Given the description of an element on the screen output the (x, y) to click on. 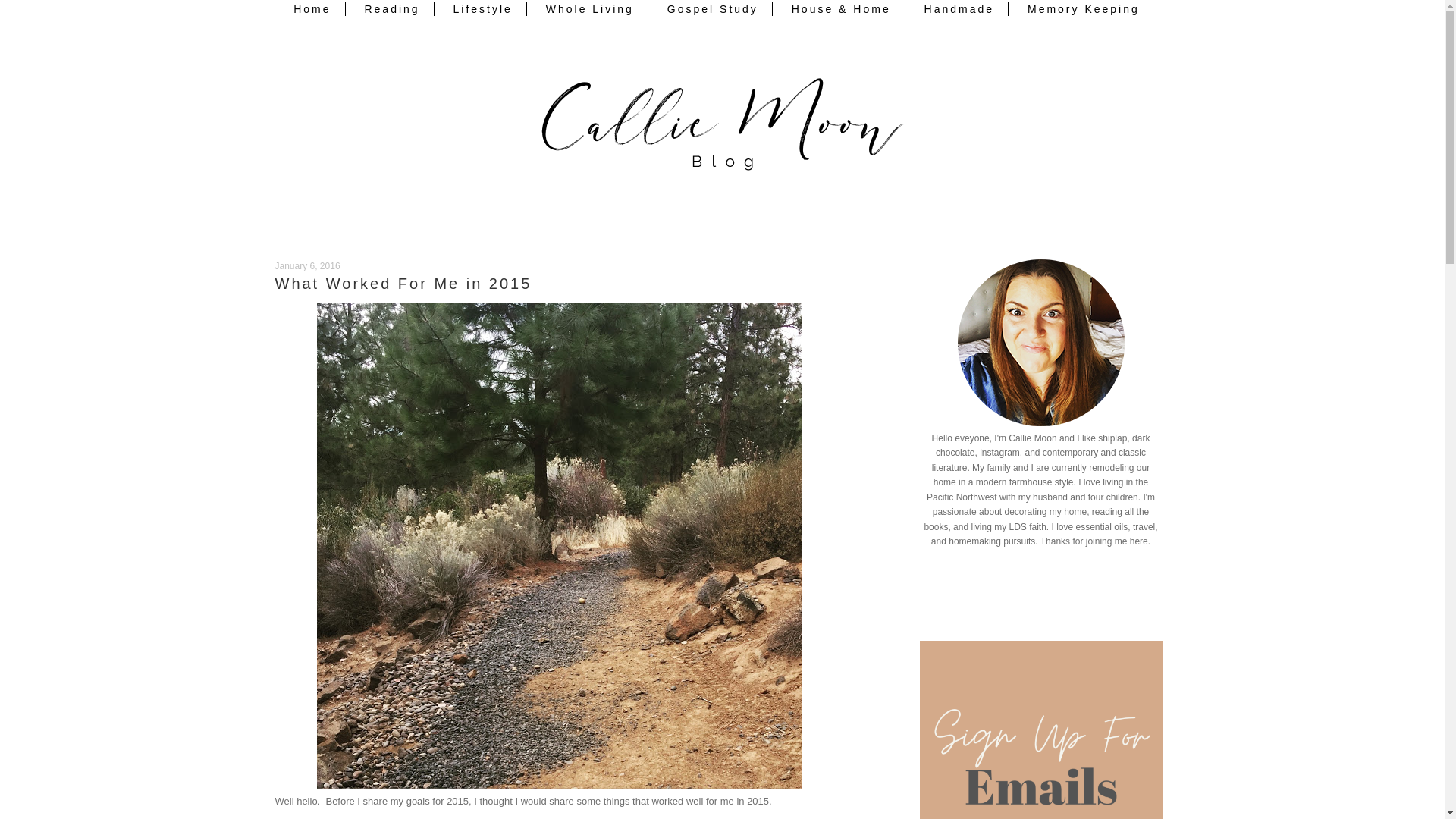
Reading (391, 8)
Home (312, 8)
Gospel Study (713, 8)
Lifestyle (483, 8)
Whole Living (589, 8)
Handmade (960, 8)
